Given the description of an element on the screen output the (x, y) to click on. 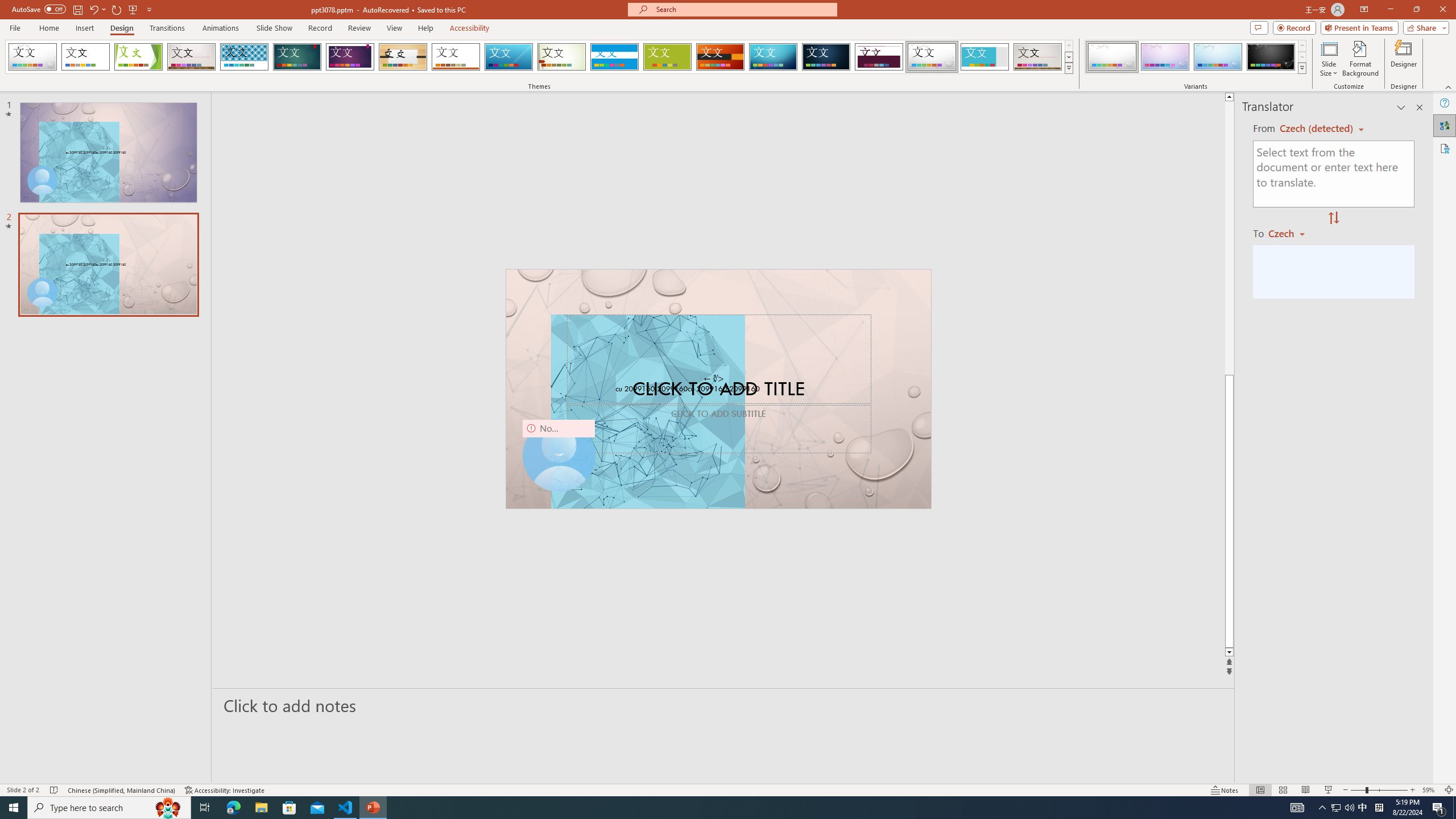
Themes (1068, 67)
TextBox 7 (713, 378)
Wisp (561, 56)
